Given the description of an element on the screen output the (x, y) to click on. 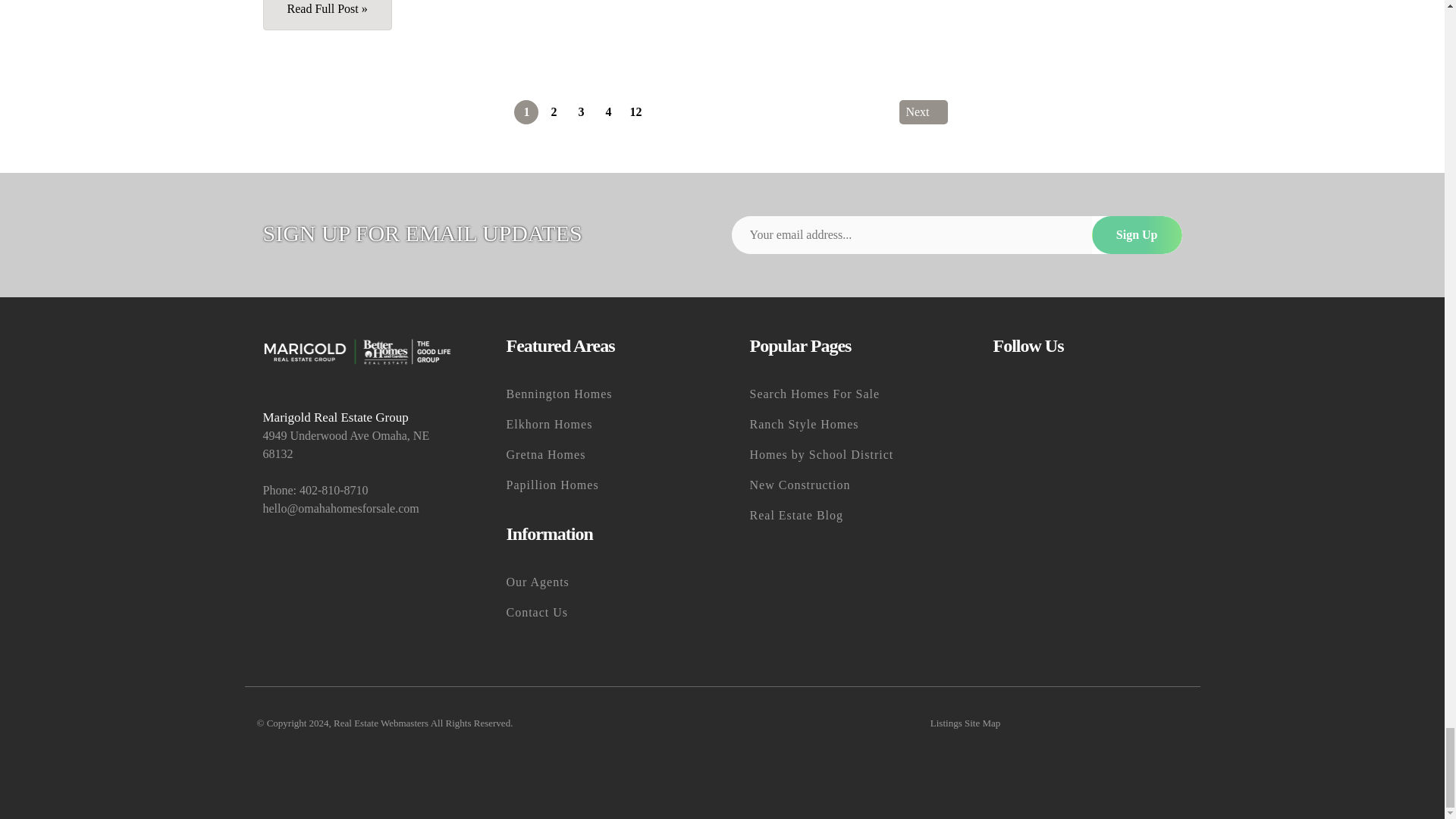
Site Logo (356, 351)
